Given the description of an element on the screen output the (x, y) to click on. 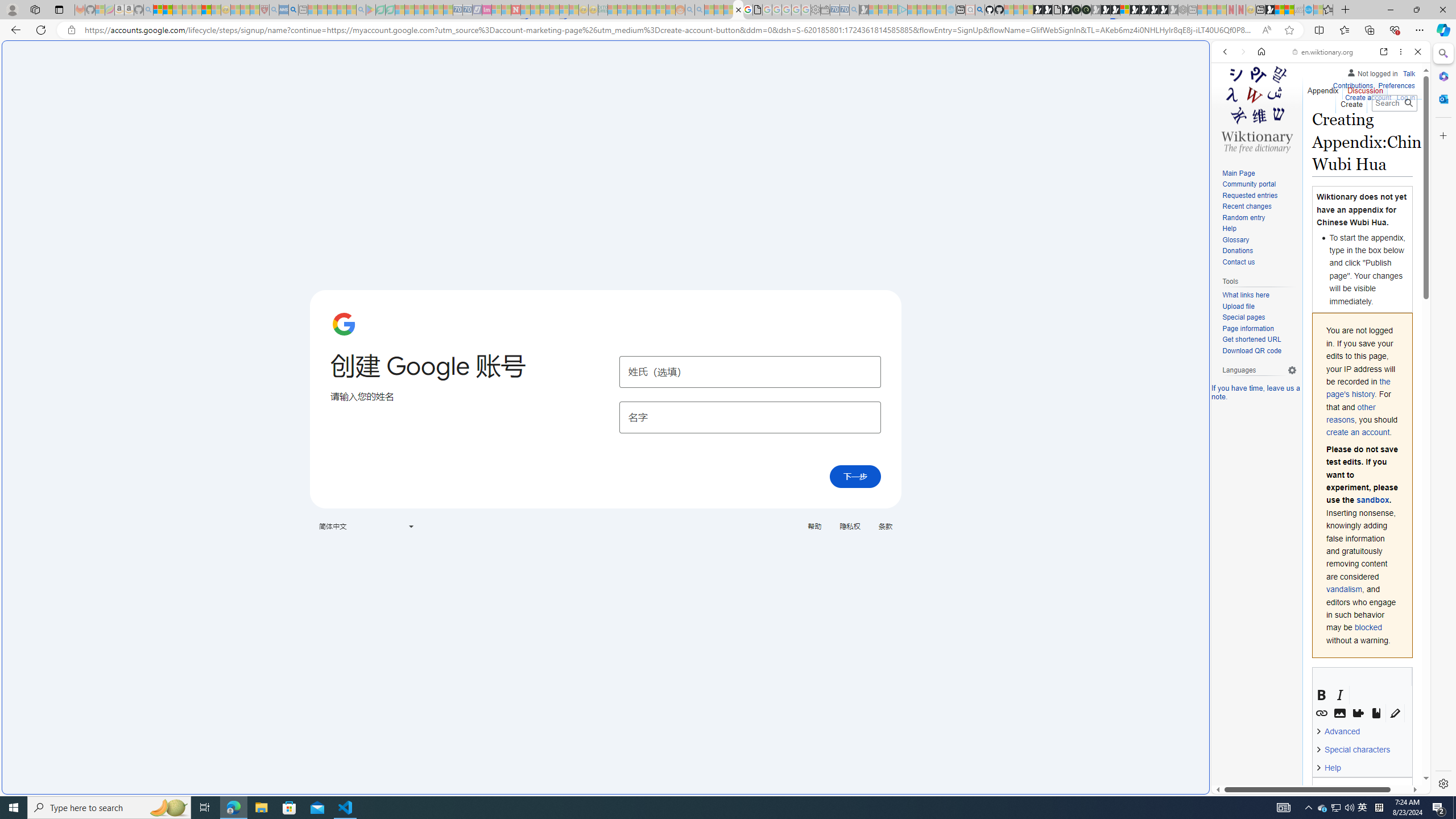
Special pages (1243, 317)
Appendix (1323, 87)
